Given the description of an element on the screen output the (x, y) to click on. 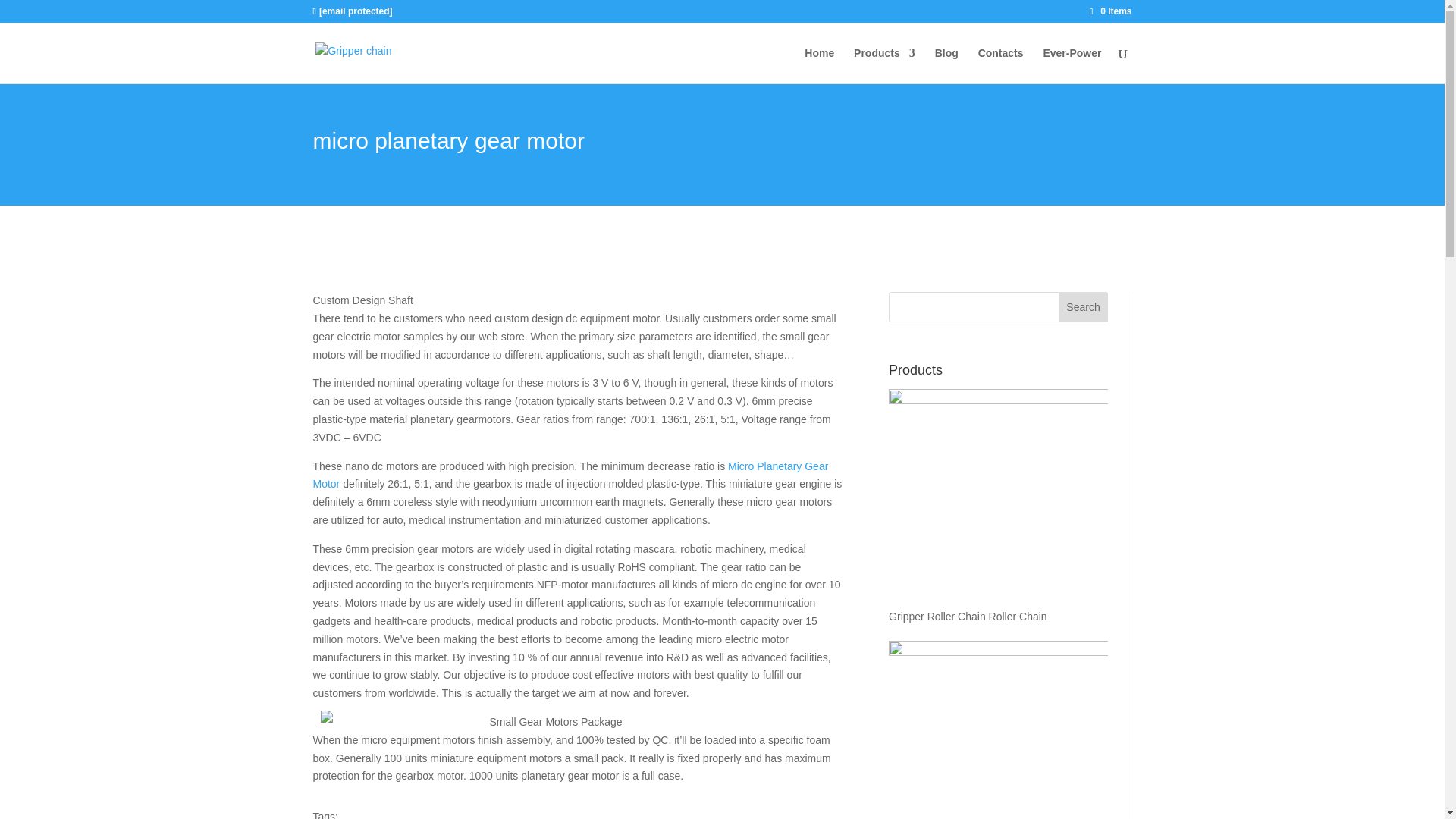
Products (884, 65)
Gripper Roller Chain Roller Chain (998, 507)
Search (1083, 306)
0 Items (1110, 10)
Micro Planetary Gear Motor (570, 475)
PL 18730 Flex Snap-on Gripper Chain (998, 732)
Ever-Power (1071, 65)
Contacts (1000, 65)
Search (1083, 306)
